Given the description of an element on the screen output the (x, y) to click on. 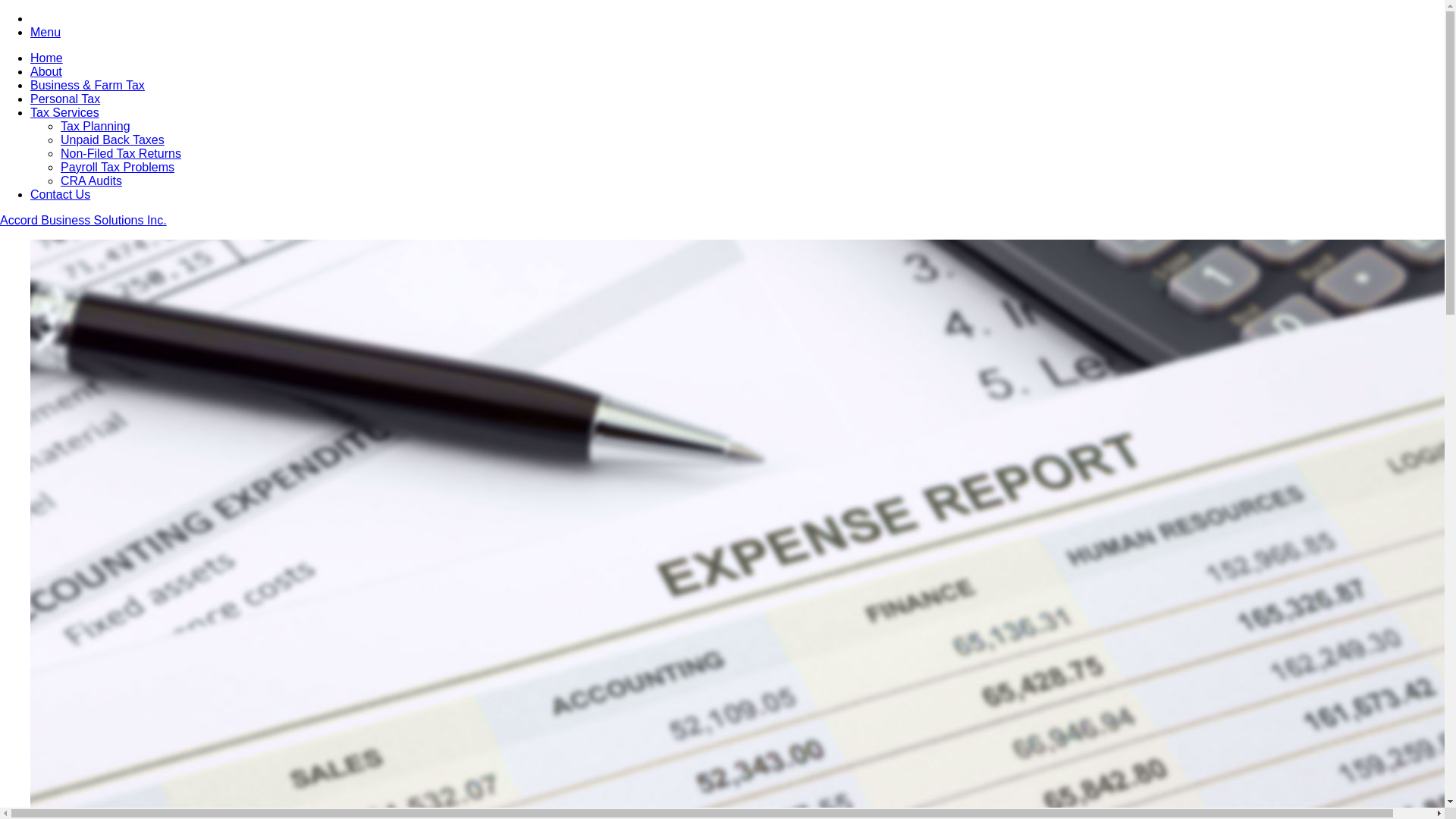
Home Element type: text (46, 57)
Contact Us Element type: text (60, 194)
Tax Planning Element type: text (95, 125)
Accord Business Solutions Inc. Element type: text (83, 219)
Payroll Tax Problems Element type: text (117, 166)
Unpaid Back Taxes Element type: text (112, 139)
Tax Services Element type: text (64, 112)
Business & Farm Tax Element type: text (87, 84)
Personal Tax Element type: text (65, 98)
CRA Audits Element type: text (91, 180)
About Element type: text (46, 71)
Non-Filed Tax Returns Element type: text (120, 153)
Menu Element type: text (45, 31)
